Given the description of an element on the screen output the (x, y) to click on. 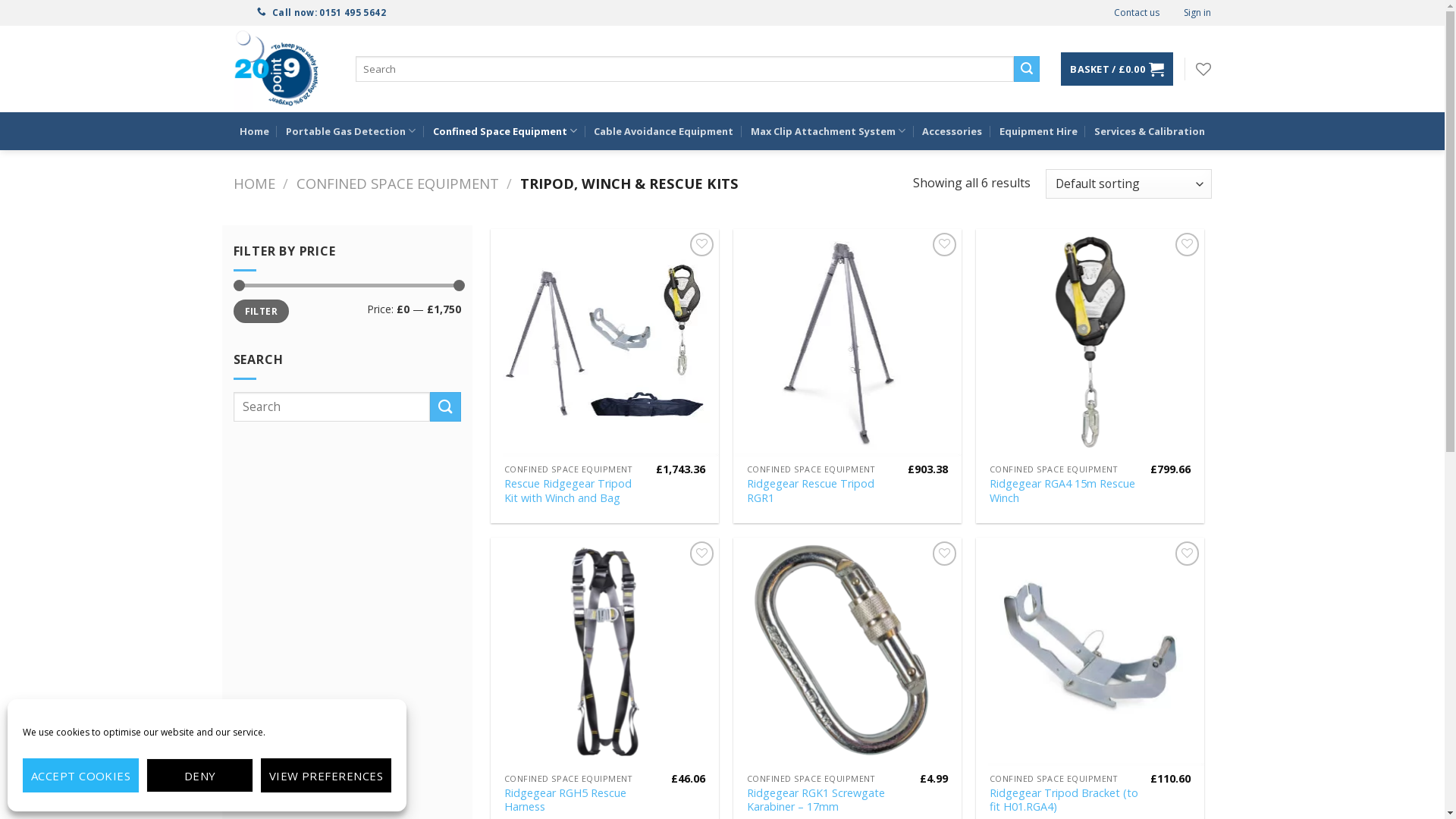
Contact us Element type: text (1136, 12)
Ridgegear RGH5 Rescue Harness Element type: text (582, 800)
Cable Avoidance Equipment Element type: text (663, 130)
Equipment Hire Element type: text (1038, 130)
HOME Element type: text (254, 182)
Confined Space Equipment Element type: text (505, 130)
Search Element type: text (444, 406)
Ridgegear RGA4 15m Rescue Winch Element type: text (1064, 490)
Ridgegear Rescue Tripod RGR1 Element type: text (821, 490)
Ridgegear Tripod Bracket (to fit H01.RGA4) Element type: text (1064, 800)
Home Element type: text (254, 130)
Services & Calibration Element type: text (1149, 130)
Accessories Element type: text (952, 130)
DENY Element type: text (199, 775)
Call now: 0151 495 5642 Element type: text (322, 12)
FILTER Element type: text (261, 311)
Search Element type: text (1026, 68)
Rescue Ridgegear Tripod Kit with Winch and Bag Element type: text (574, 490)
Portable Gas Detection Element type: text (350, 130)
CONFINED SPACE EQUIPMENT Element type: text (397, 182)
Max Clip Attachment System Element type: text (827, 130)
ACCEPT COOKIES Element type: text (80, 775)
Sign in Element type: text (1197, 12)
VIEW PREFERENCES Element type: text (325, 775)
